Given the description of an element on the screen output the (x, y) to click on. 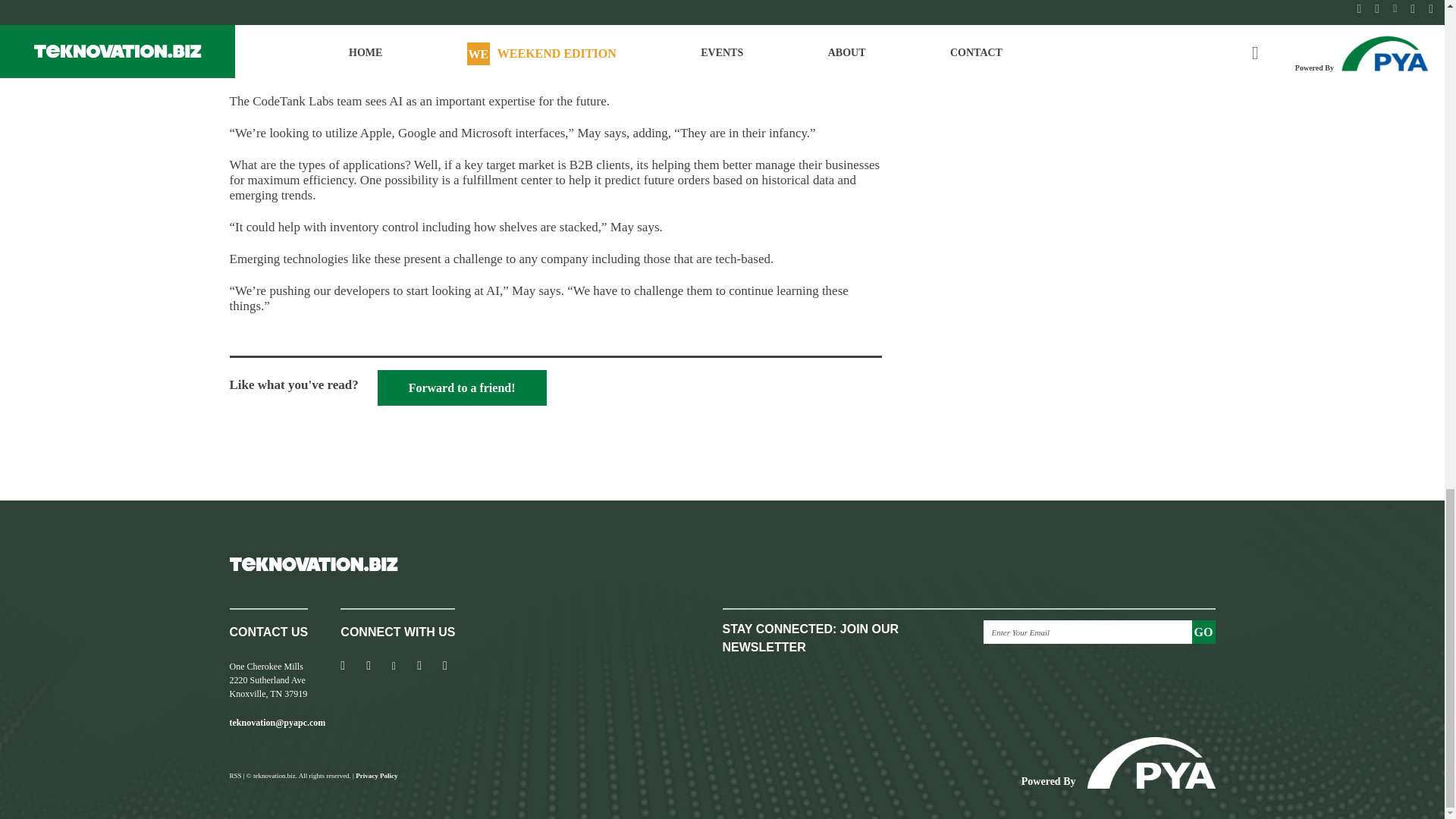
Forward to a Friend by Email (462, 387)
Go (1203, 631)
Forward to a friend! (462, 387)
